Given the description of an element on the screen output the (x, y) to click on. 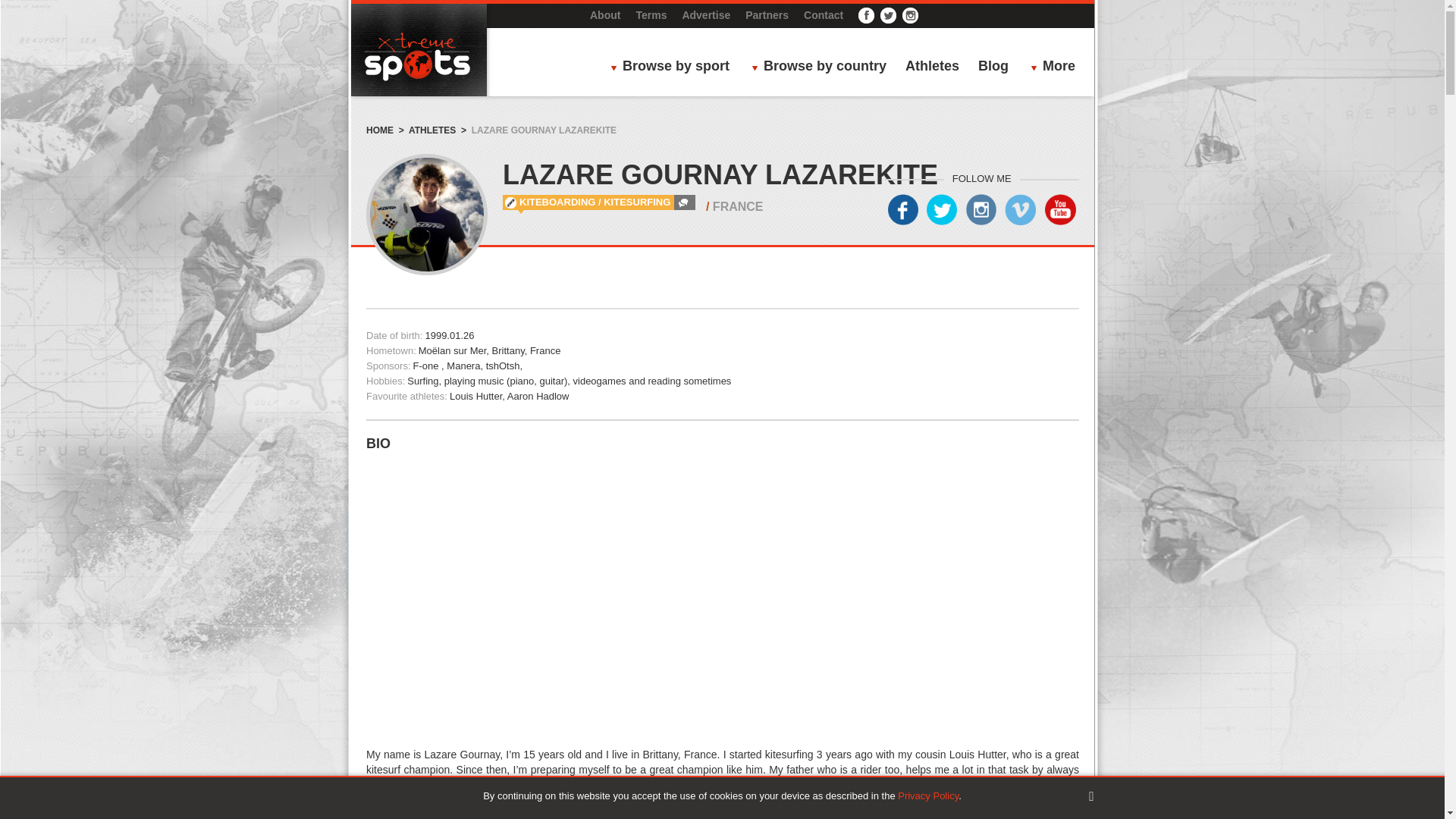
Partners (767, 15)
About (604, 15)
Athletes (932, 67)
Browse by sport (674, 67)
Browse by country (823, 67)
Terms (650, 15)
Advertise (705, 15)
Contact (823, 15)
Blog (993, 67)
More (1056, 67)
